Given the description of an element on the screen output the (x, y) to click on. 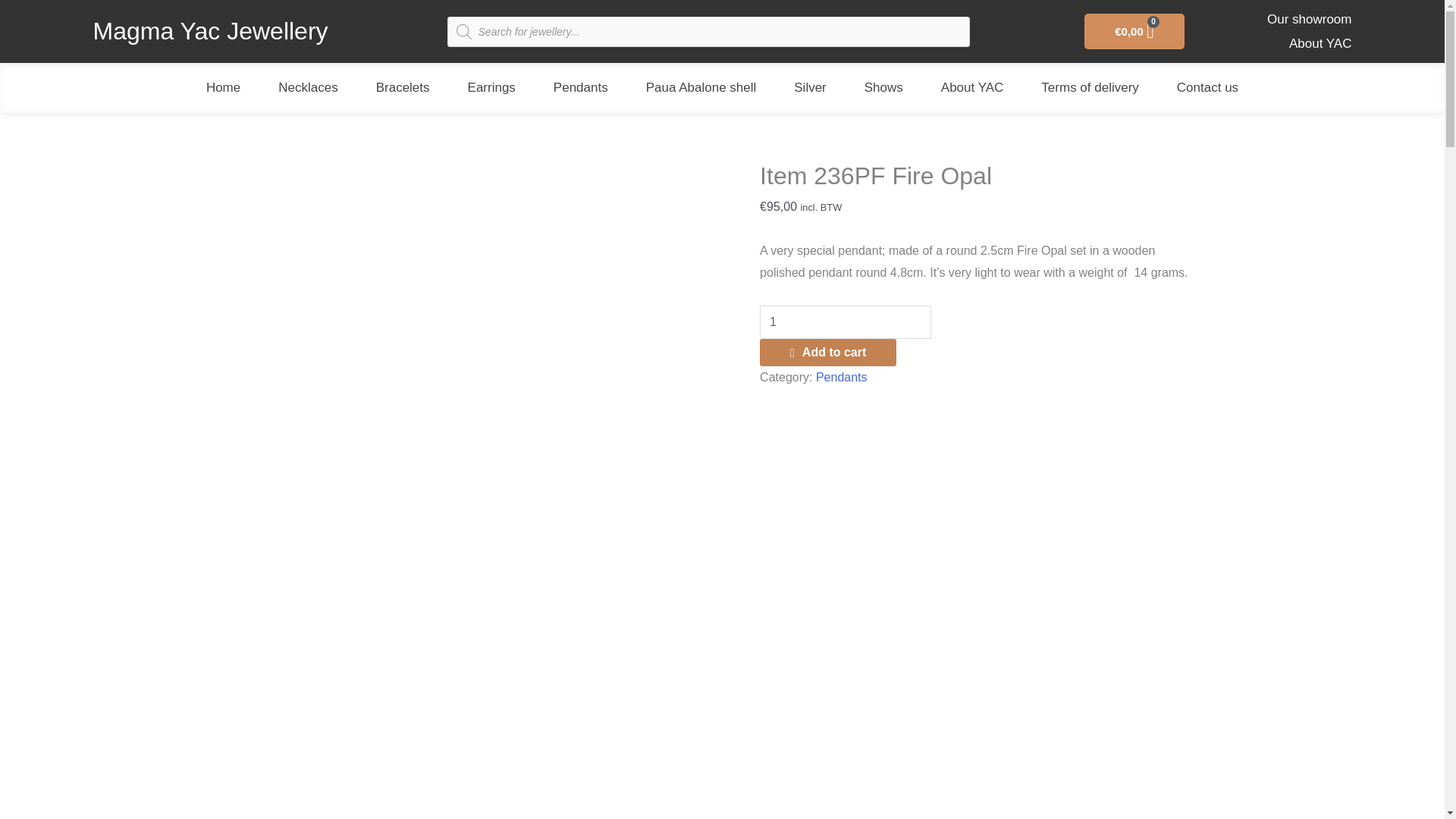
Terms of delivery (1089, 87)
Paua Abalone shell (700, 87)
Our showroom (1275, 19)
Shows (883, 87)
Necklaces (307, 87)
Magma Yac Jewellery (210, 31)
About YAC (972, 87)
About YAC (1275, 43)
Home (223, 87)
Earrings (491, 87)
